Given the description of an element on the screen output the (x, y) to click on. 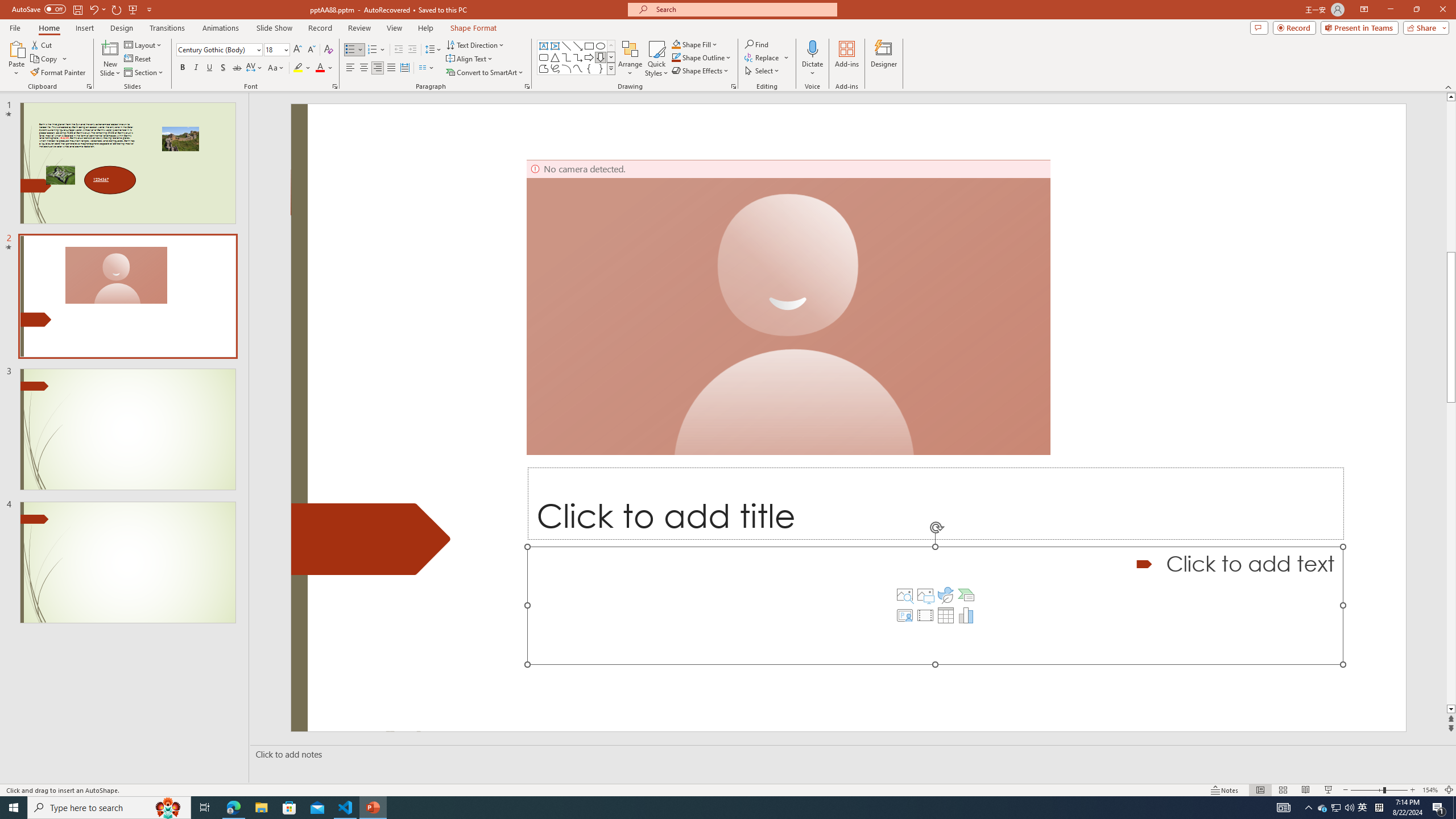
Zoom 154% (1430, 790)
